Given the description of an element on the screen output the (x, y) to click on. 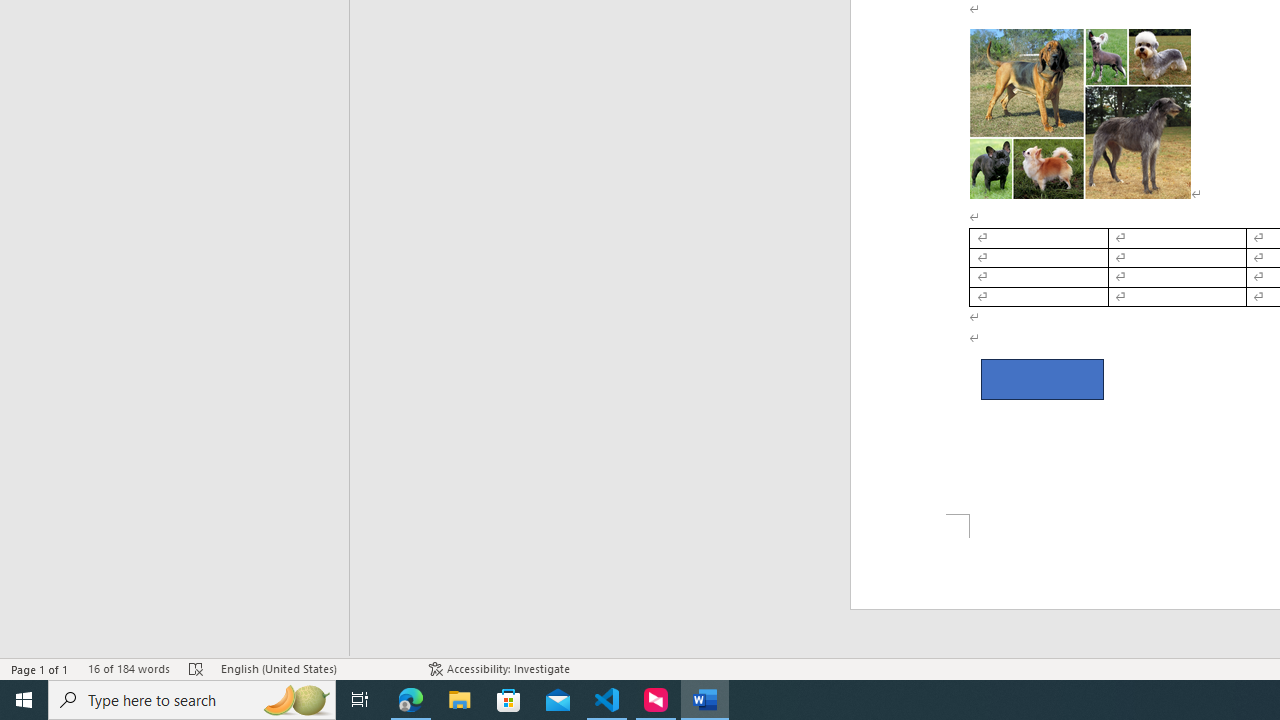
Rectangle 2 (1041, 379)
Spelling and Grammar Check Errors (196, 668)
Page Number Page 1 of 1 (39, 668)
Morphological variation in six dogs (1080, 113)
Accessibility Checker Accessibility: Investigate (499, 668)
Language English (United States) (315, 668)
